Given the description of an element on the screen output the (x, y) to click on. 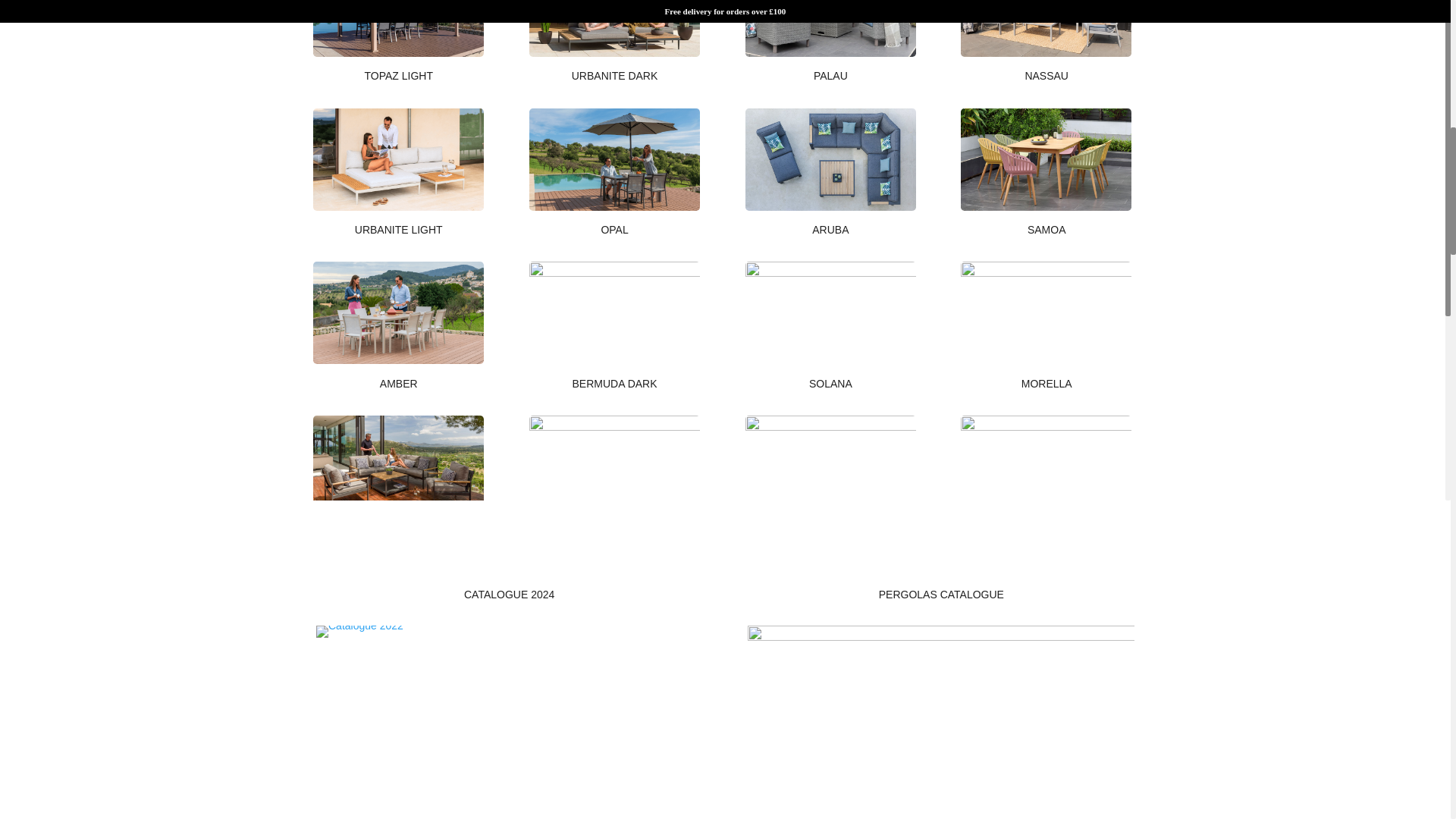
Topaz Light 750x450px (398, 159)
Haiti-menu (830, 28)
menu-pergolas (398, 28)
Opal-menu (614, 312)
Urbanite Light 750x450px (398, 312)
Urbanite Dark 750x450px (614, 159)
Topaz-menu (614, 28)
MINI-amber (398, 466)
